Given the description of an element on the screen output the (x, y) to click on. 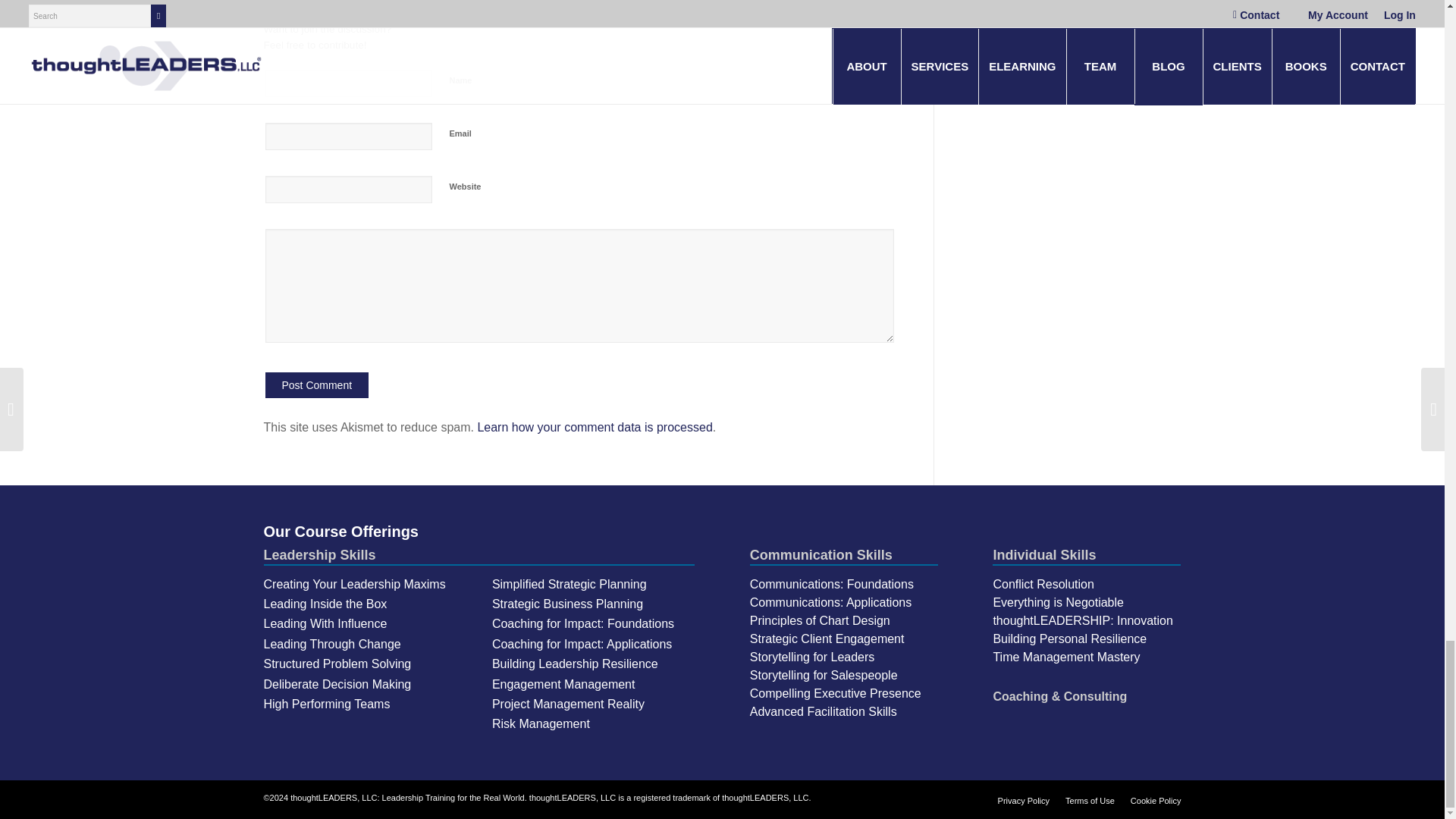
Post Comment (316, 385)
Post Comment (316, 385)
Learn how your comment data is processed (594, 427)
